Given the description of an element on the screen output the (x, y) to click on. 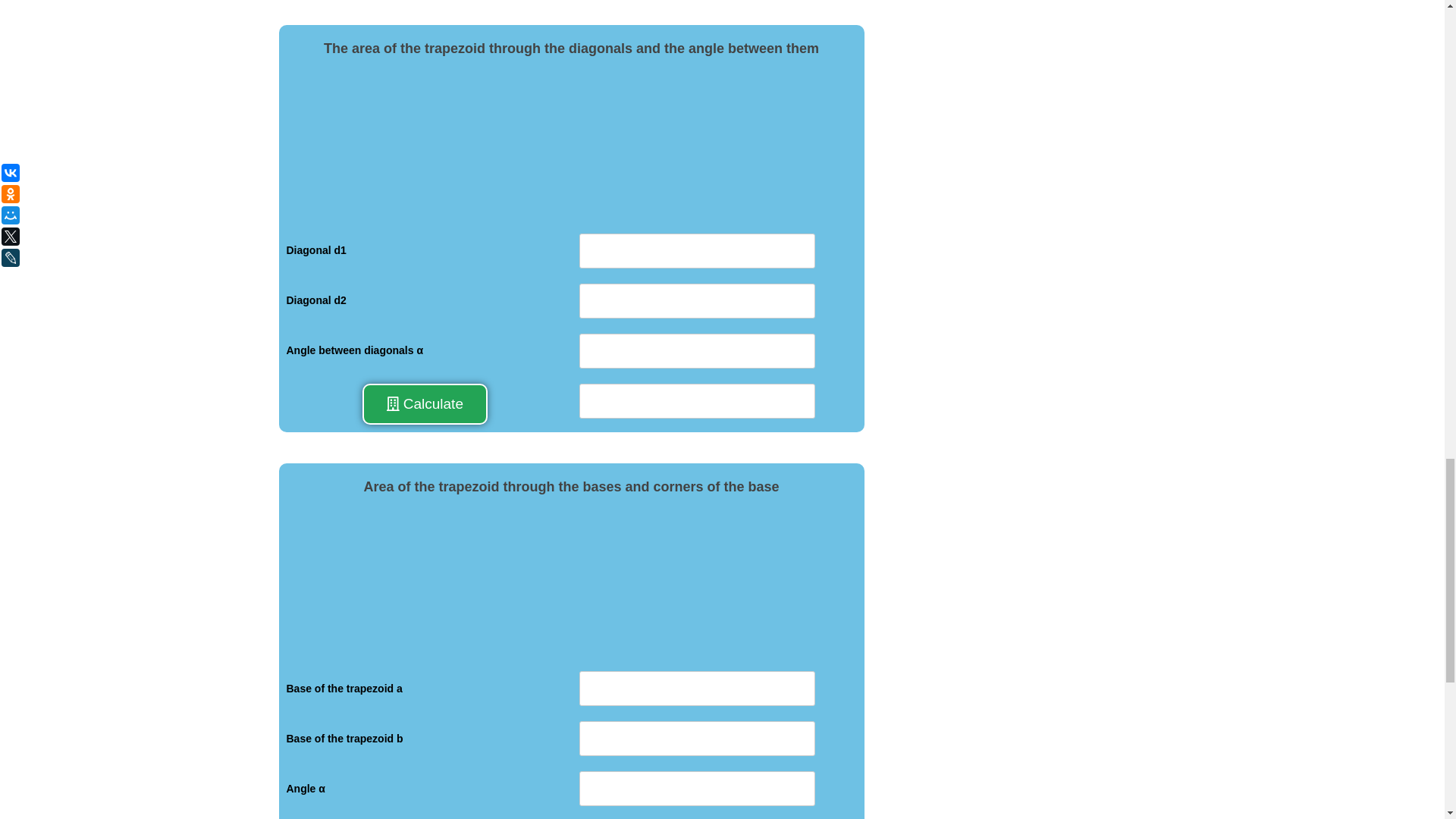
Calculate (424, 404)
